Given the description of an element on the screen output the (x, y) to click on. 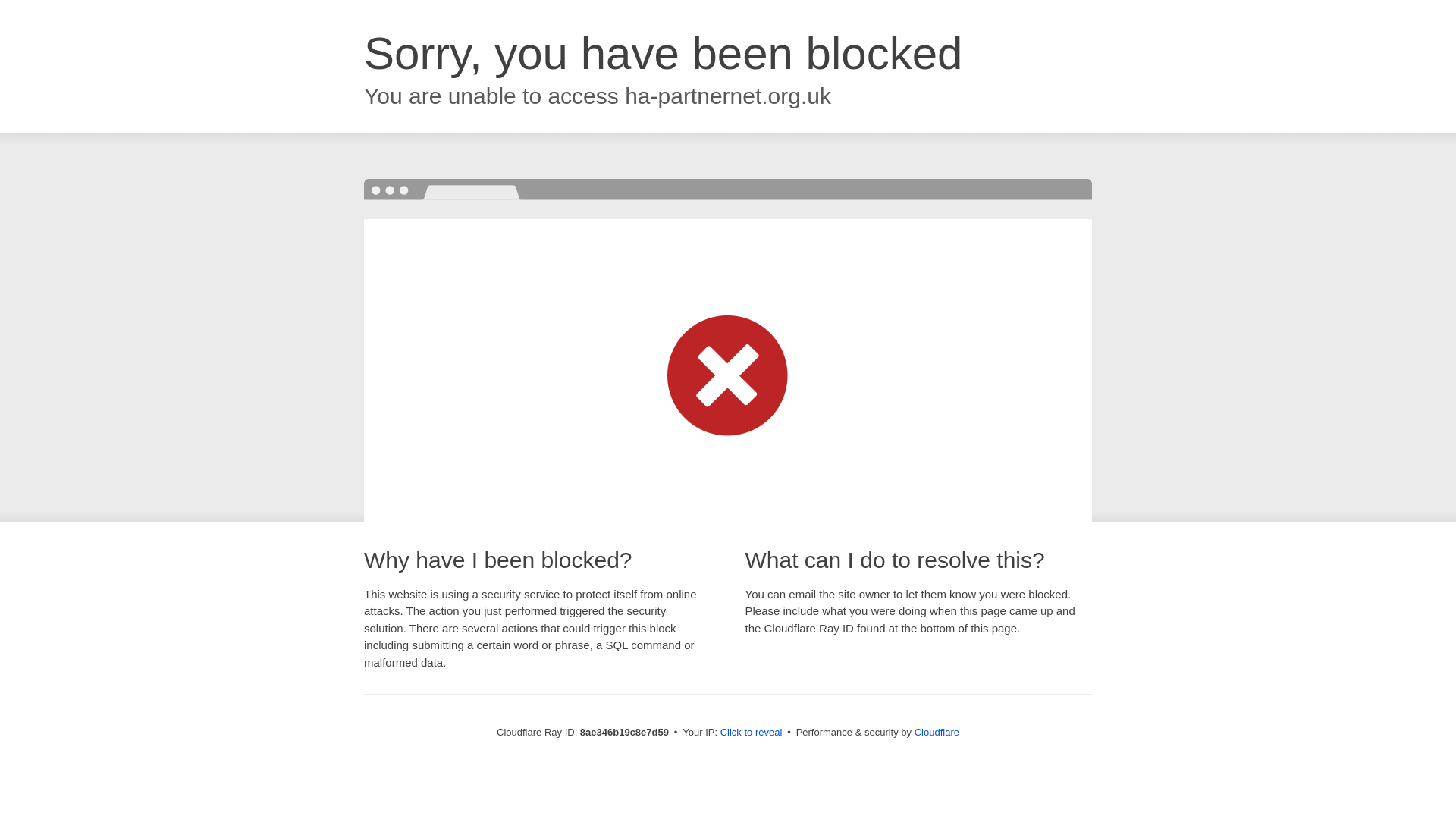
Click to reveal (751, 732)
Cloudflare (936, 731)
